Given the description of an element on the screen output the (x, y) to click on. 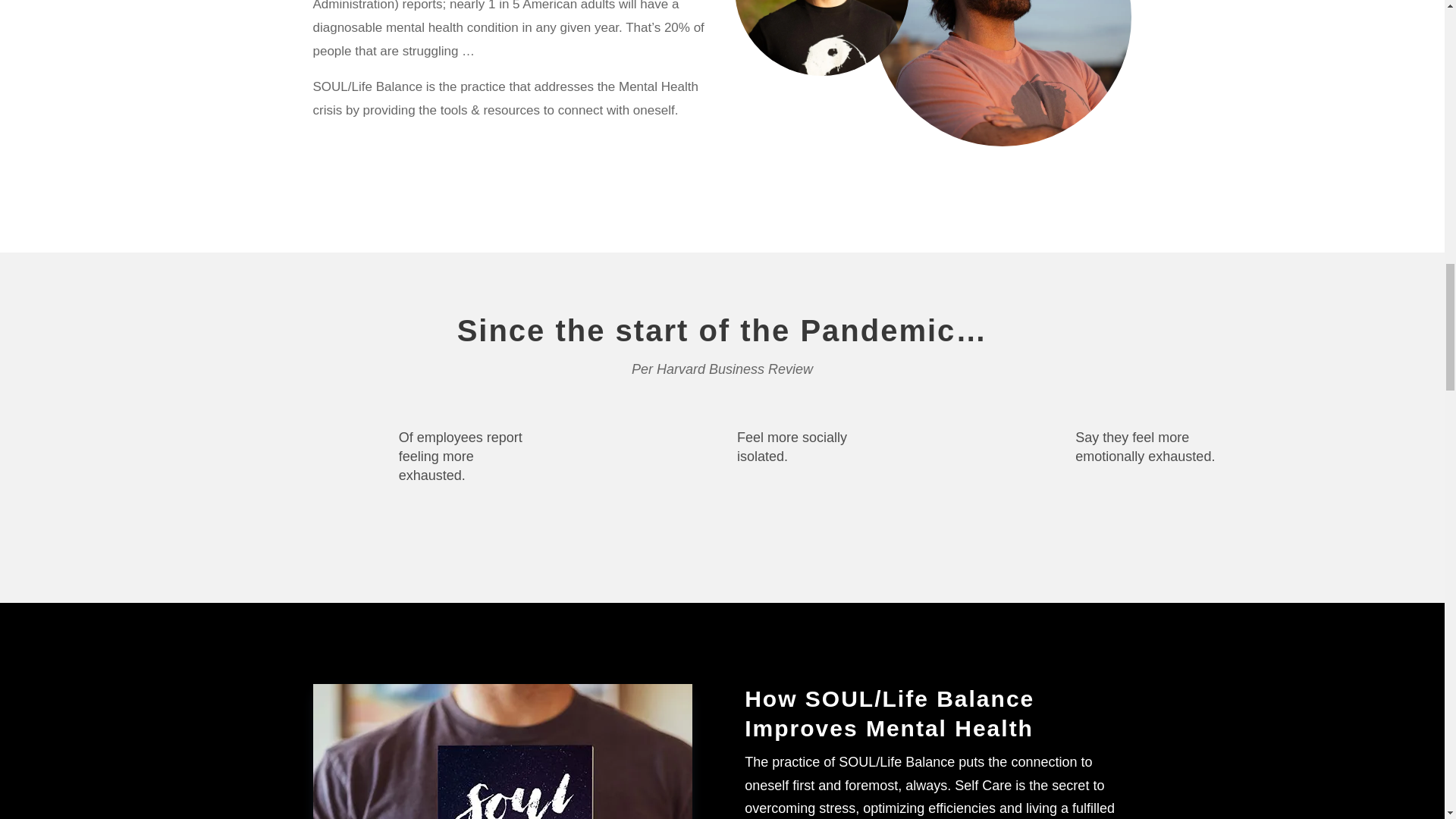
Image12 (502, 751)
skphotodump4 (1002, 72)
skphotodump5 (821, 38)
